Given the description of an element on the screen output the (x, y) to click on. 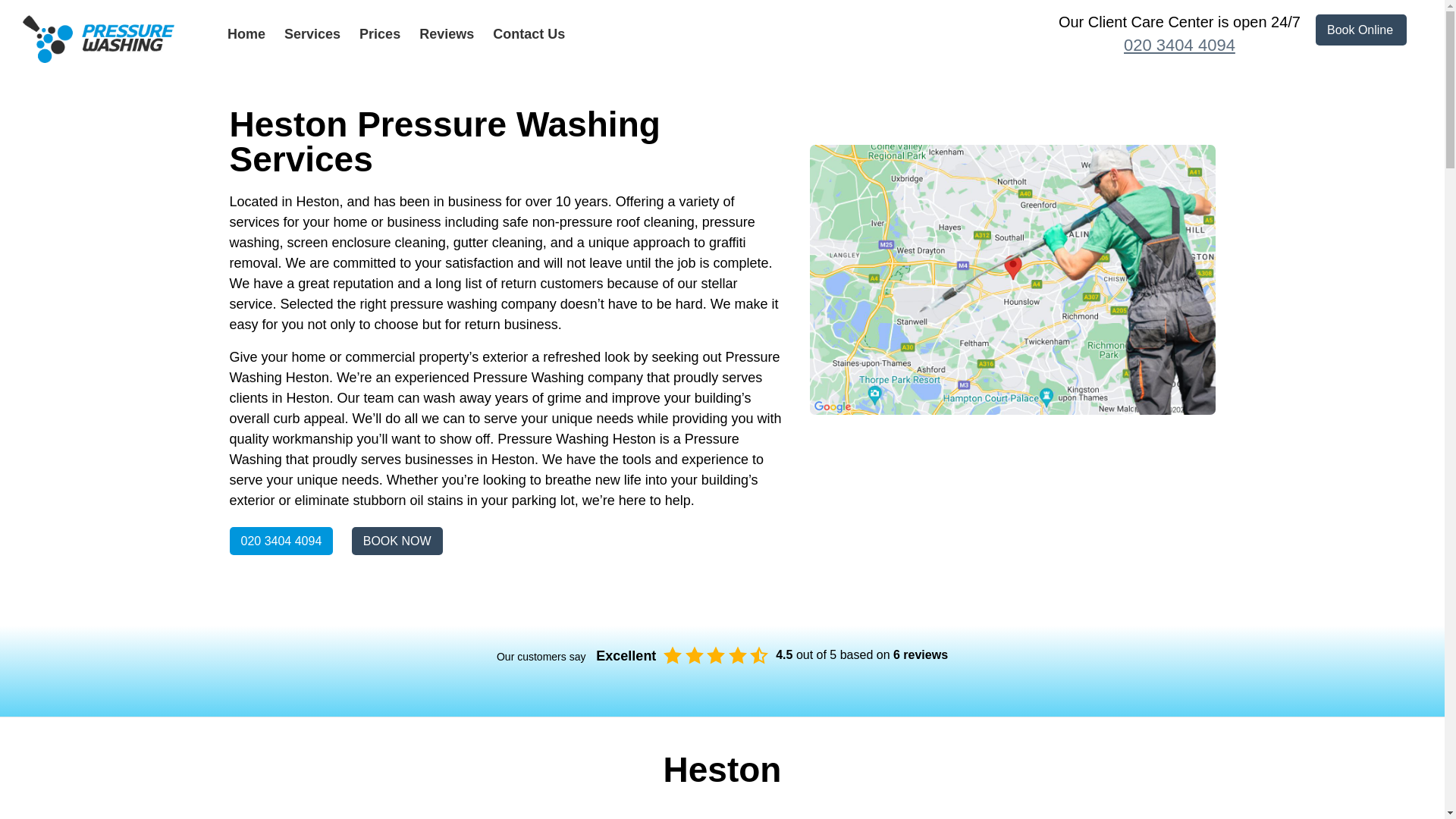
020 3404 4094 (1179, 45)
Contact Us (528, 33)
Services (311, 33)
Book Online (1361, 29)
020 3404 4094 (280, 541)
Reviews (446, 33)
Prices (379, 33)
BOOK NOW (397, 541)
Home (245, 33)
